Given the description of an element on the screen output the (x, y) to click on. 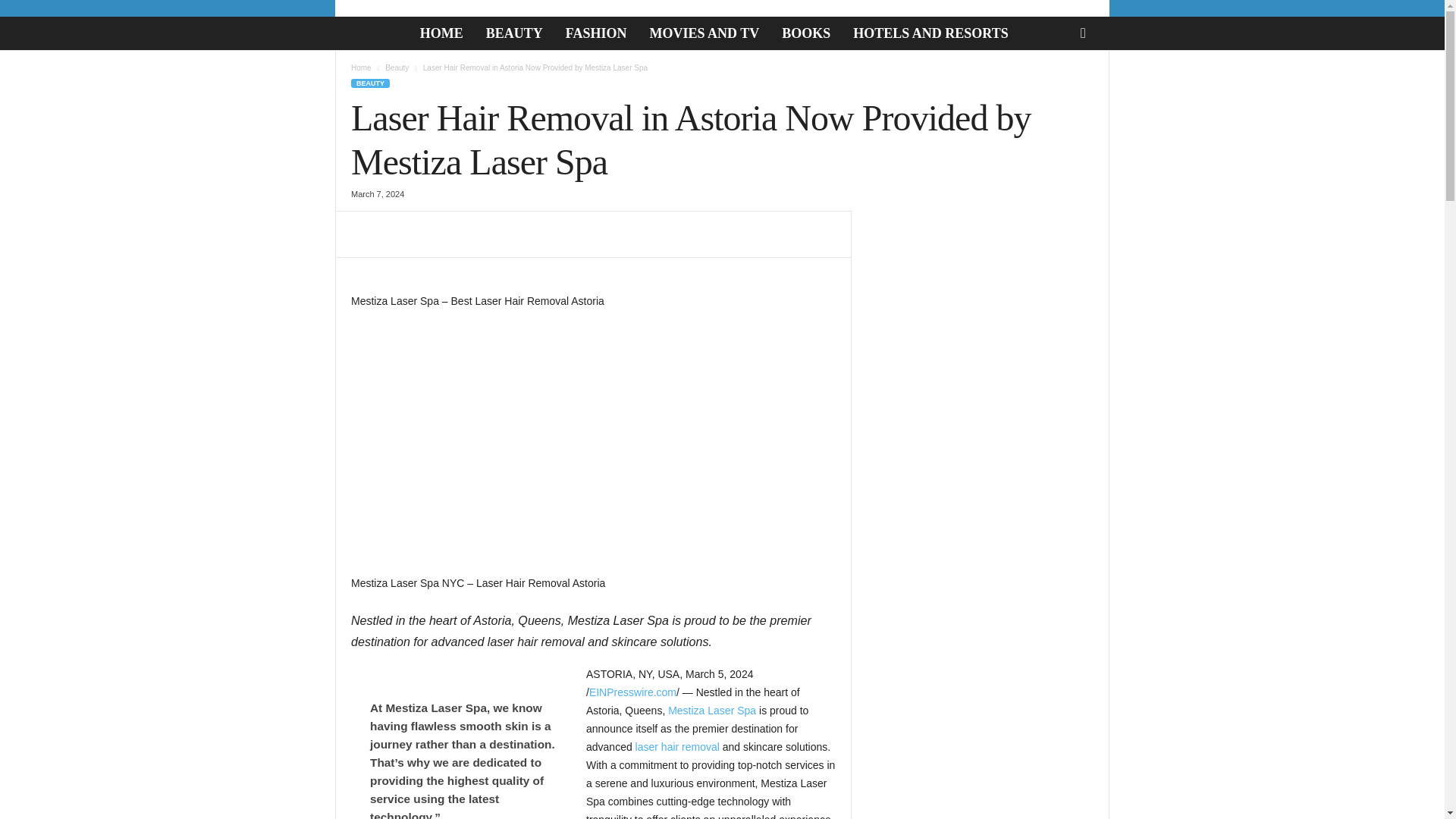
EINPresswire.com (633, 692)
HOTELS AND RESORTS (930, 32)
BOOKS (805, 32)
BEAUTY (514, 32)
Beauty (397, 67)
Beauty Ring magazine (363, 32)
Home (360, 67)
HOME (441, 32)
laser hair removal (676, 746)
FASHION (596, 32)
MOVIES AND TV (703, 32)
Mestiza Laser Spa (711, 710)
